Given the description of an element on the screen output the (x, y) to click on. 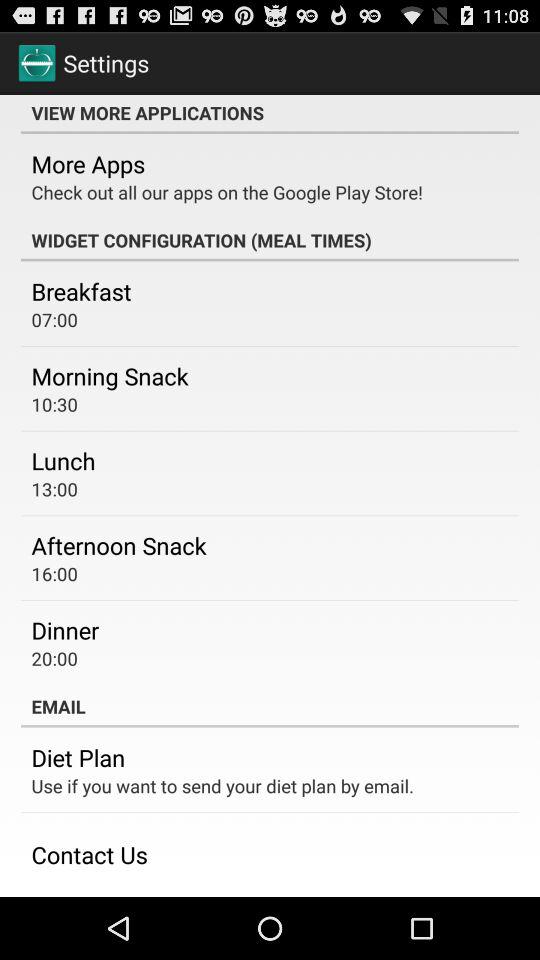
choose the app below the diet plan icon (222, 785)
